Given the description of an element on the screen output the (x, y) to click on. 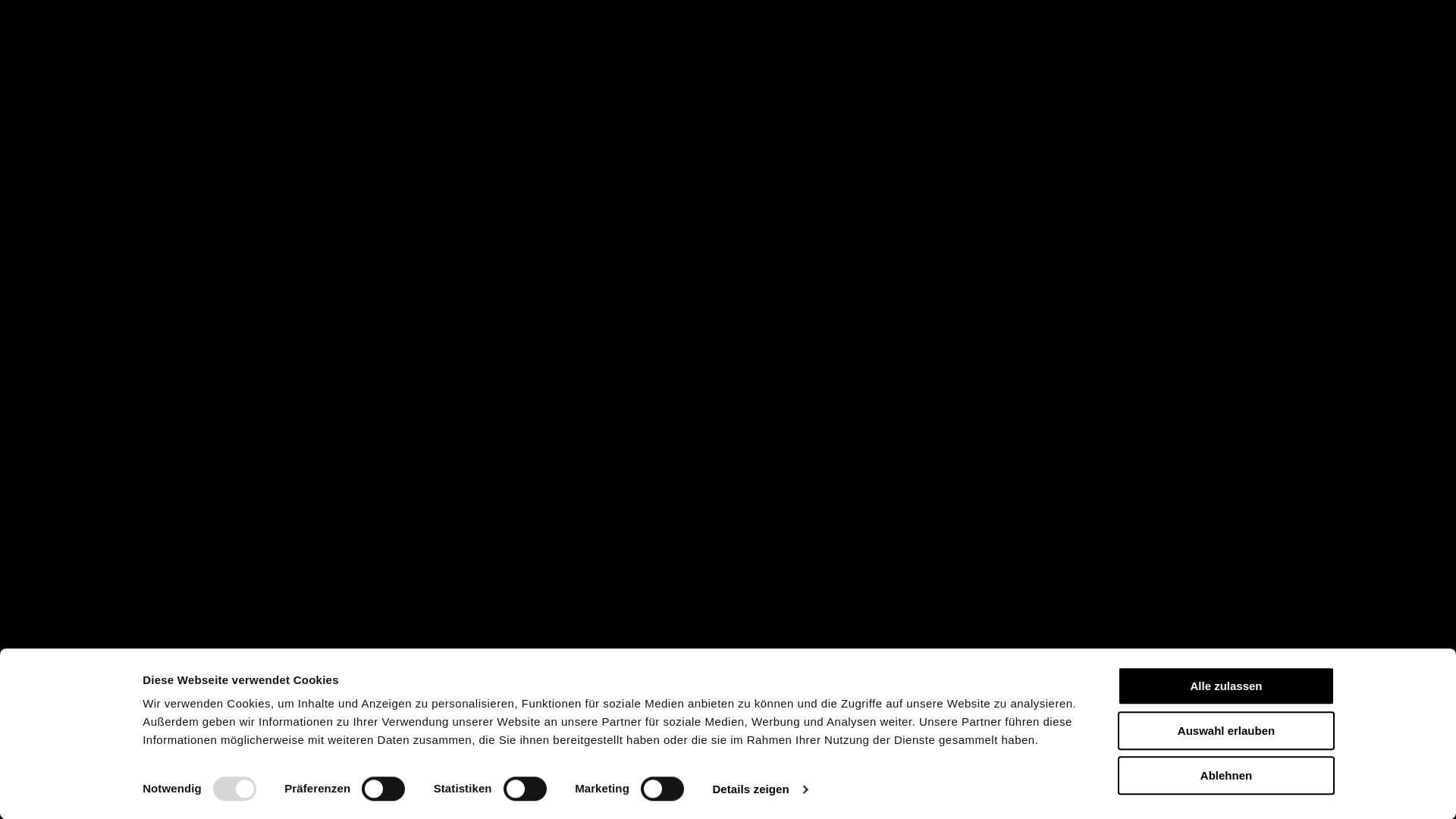
Section 5 Element type: text (1432, 440)
Ablehnen Element type: text (1225, 775)
Section 3 Element type: text (1432, 409)
Details zeigen Element type: text (759, 789)
Section 2 Element type: text (1432, 394)
Section 4 Element type: text (1432, 424)
Alle zulassen Element type: text (1225, 685)
Section 1 Element type: text (1432, 379)
Auswahl erlauben Element type: text (1225, 730)
